Given the description of an element on the screen output the (x, y) to click on. 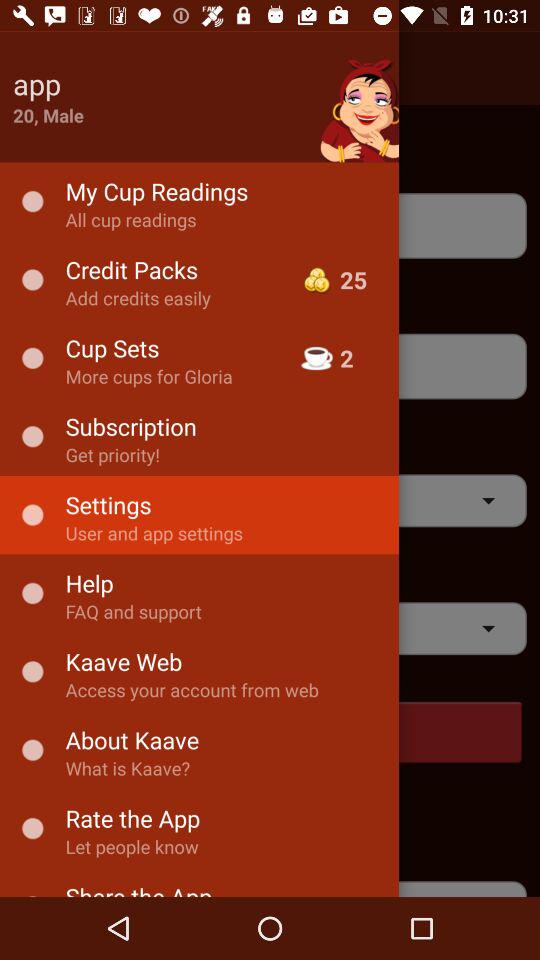
select the radio button which is before help (32, 593)
click on the dot option to the left of kaave web text (32, 671)
click on all cup readings which is below my cup readings (269, 225)
